Given the description of an element on the screen output the (x, y) to click on. 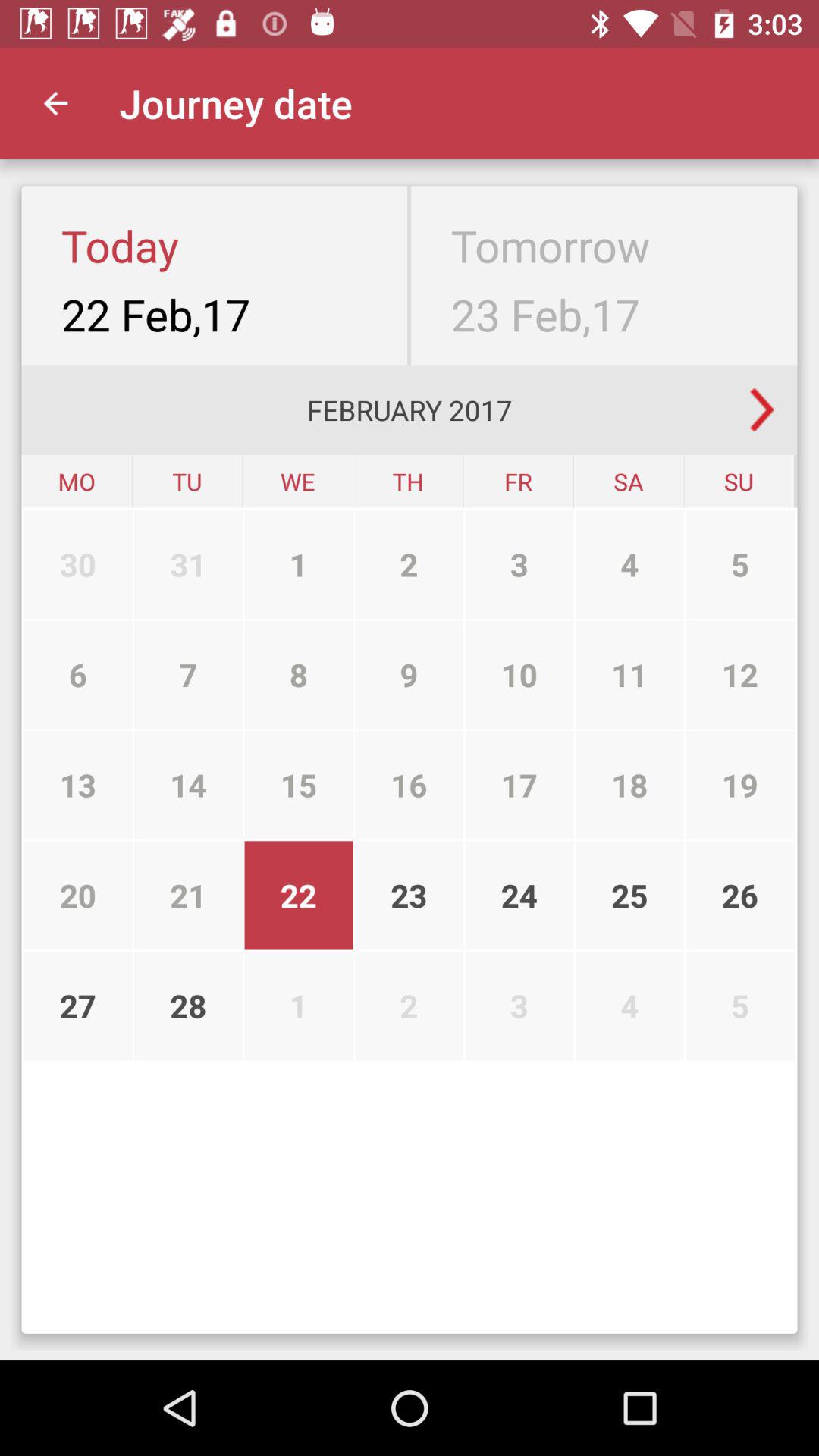
move forward a month (762, 410)
